Given the description of an element on the screen output the (x, y) to click on. 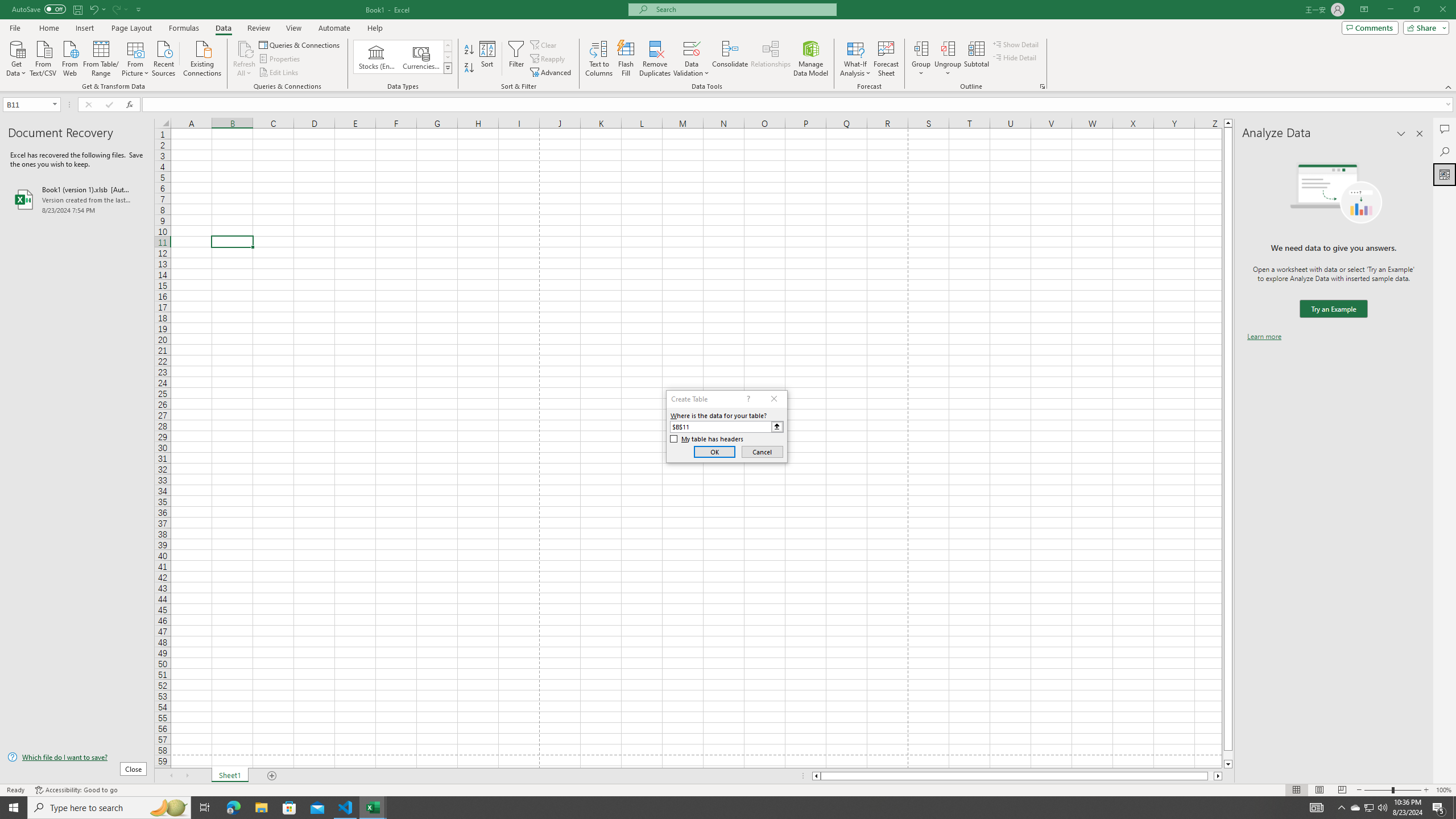
Microsoft search (742, 9)
Remove Duplicates (654, 58)
Analyze Data (1444, 173)
Reapply (548, 58)
Consolidate... (729, 58)
